Given the description of an element on the screen output the (x, y) to click on. 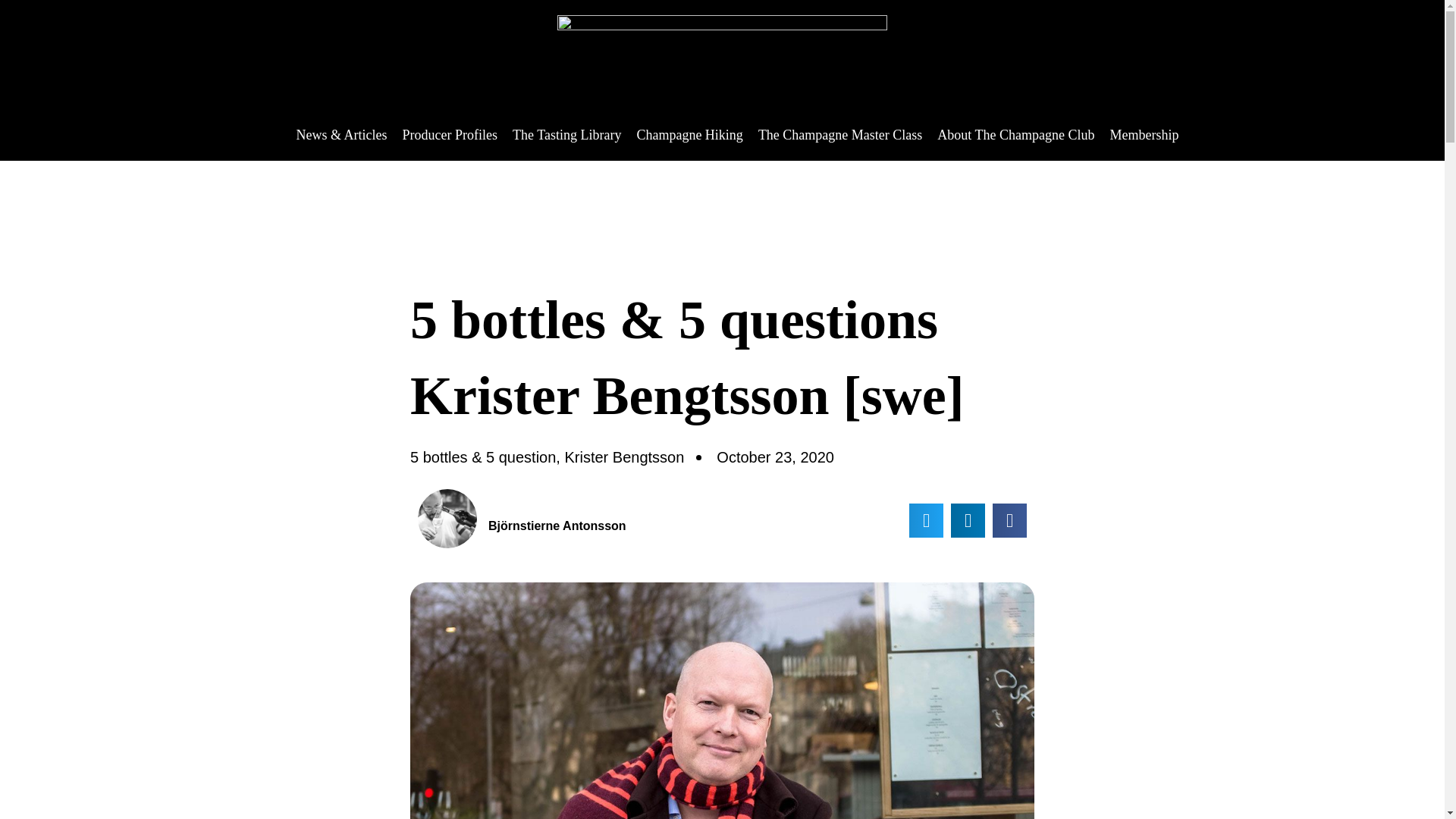
The Champagne Master Class (839, 134)
Champagne Hiking (689, 134)
About The Champagne Club (1015, 134)
The Tasting Library (566, 134)
Producer Profiles (450, 134)
Membership (1143, 134)
